Given the description of an element on the screen output the (x, y) to click on. 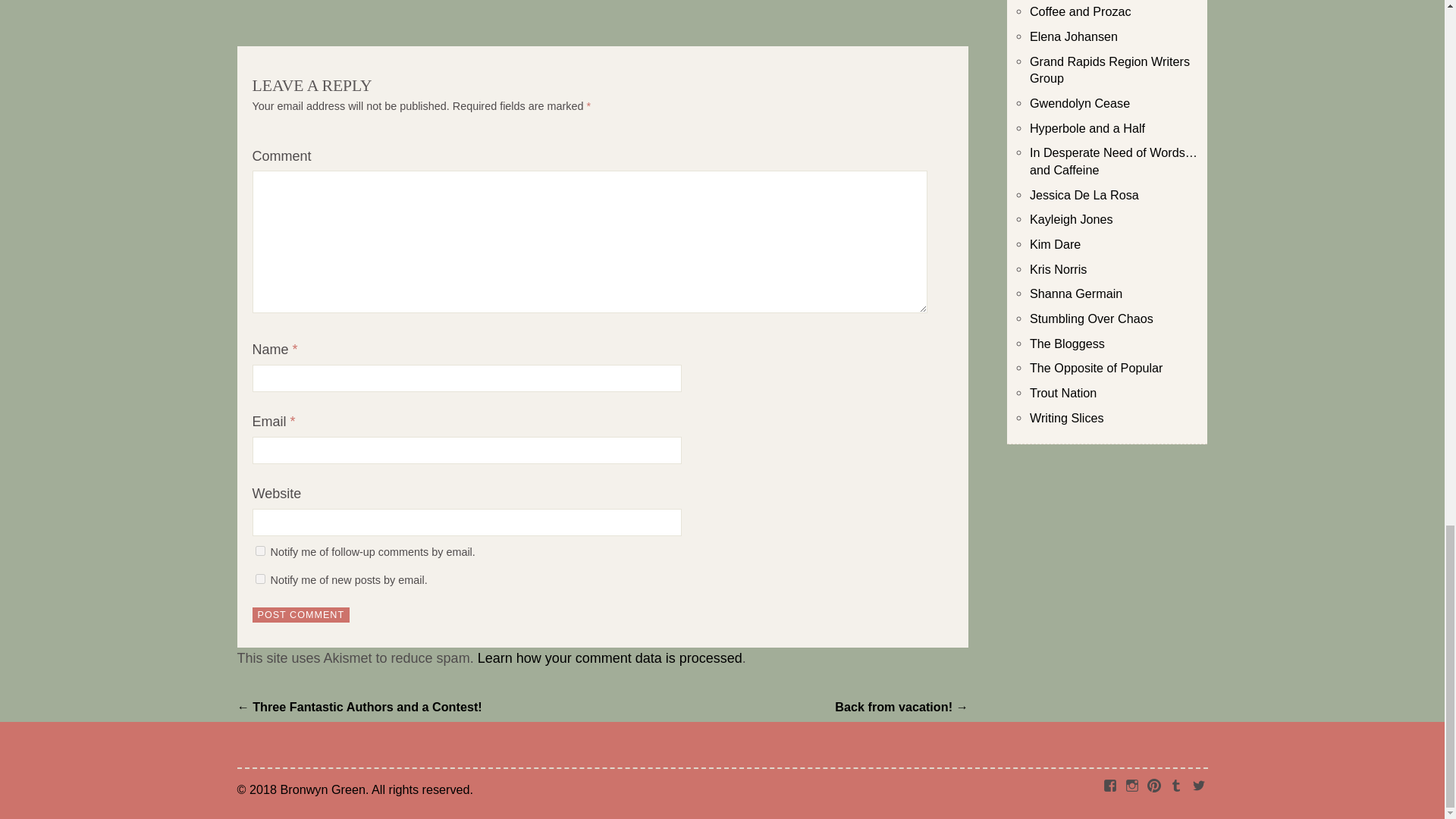
subscribe (259, 551)
Post Comment (300, 614)
subscribe (259, 578)
Bronwyn Green (360, 789)
